Given the description of an element on the screen output the (x, y) to click on. 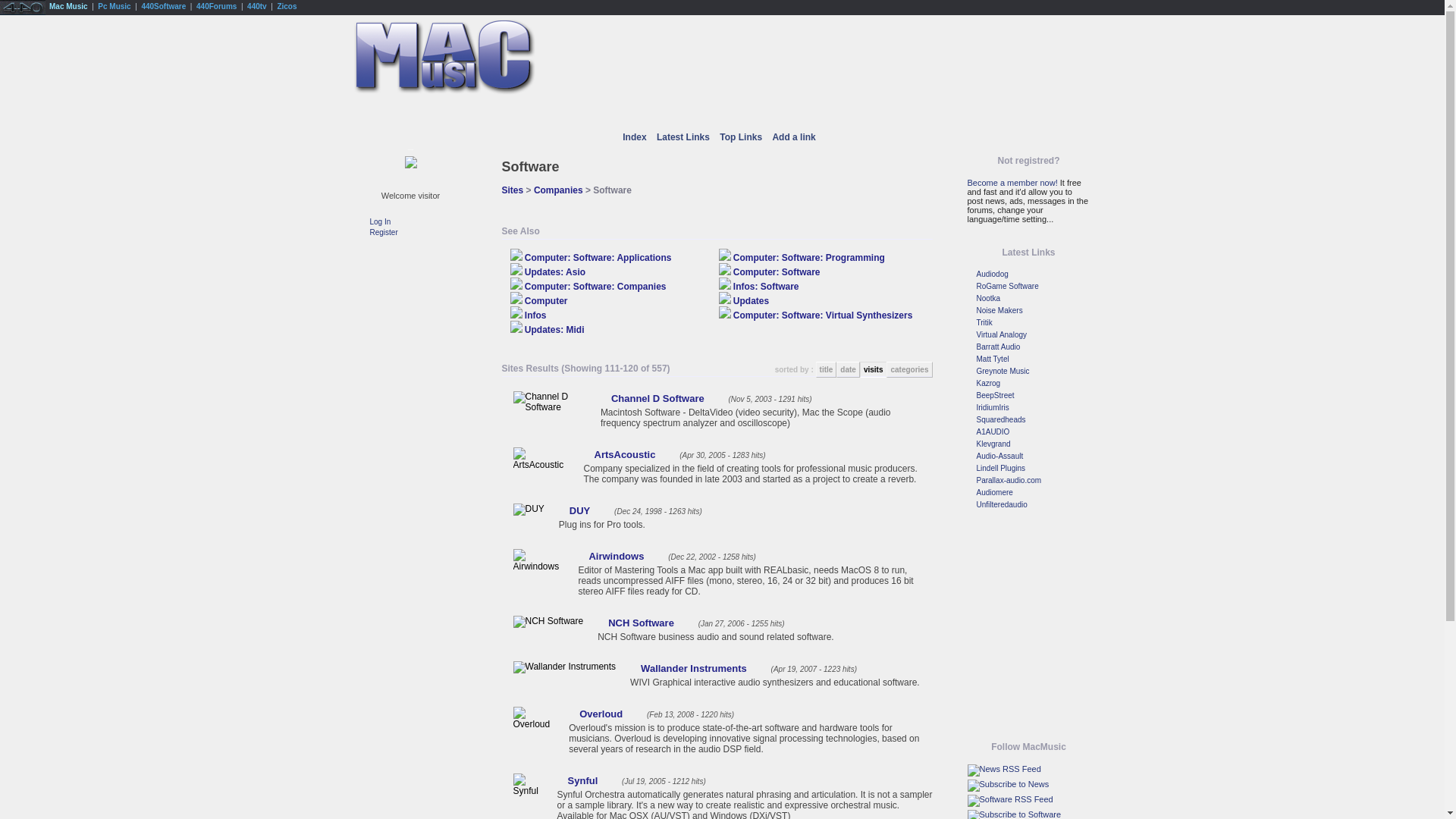
Downloads, music software database... (532, 112)
MacMusic Home (383, 112)
Mac Music Software (163, 6)
Zicos (286, 6)
MacMusic discussion area (609, 112)
All daily news (457, 112)
440Software (163, 6)
440tv (256, 6)
MacMusic Home (440, 91)
Pc Music (114, 6)
